Given the description of an element on the screen output the (x, y) to click on. 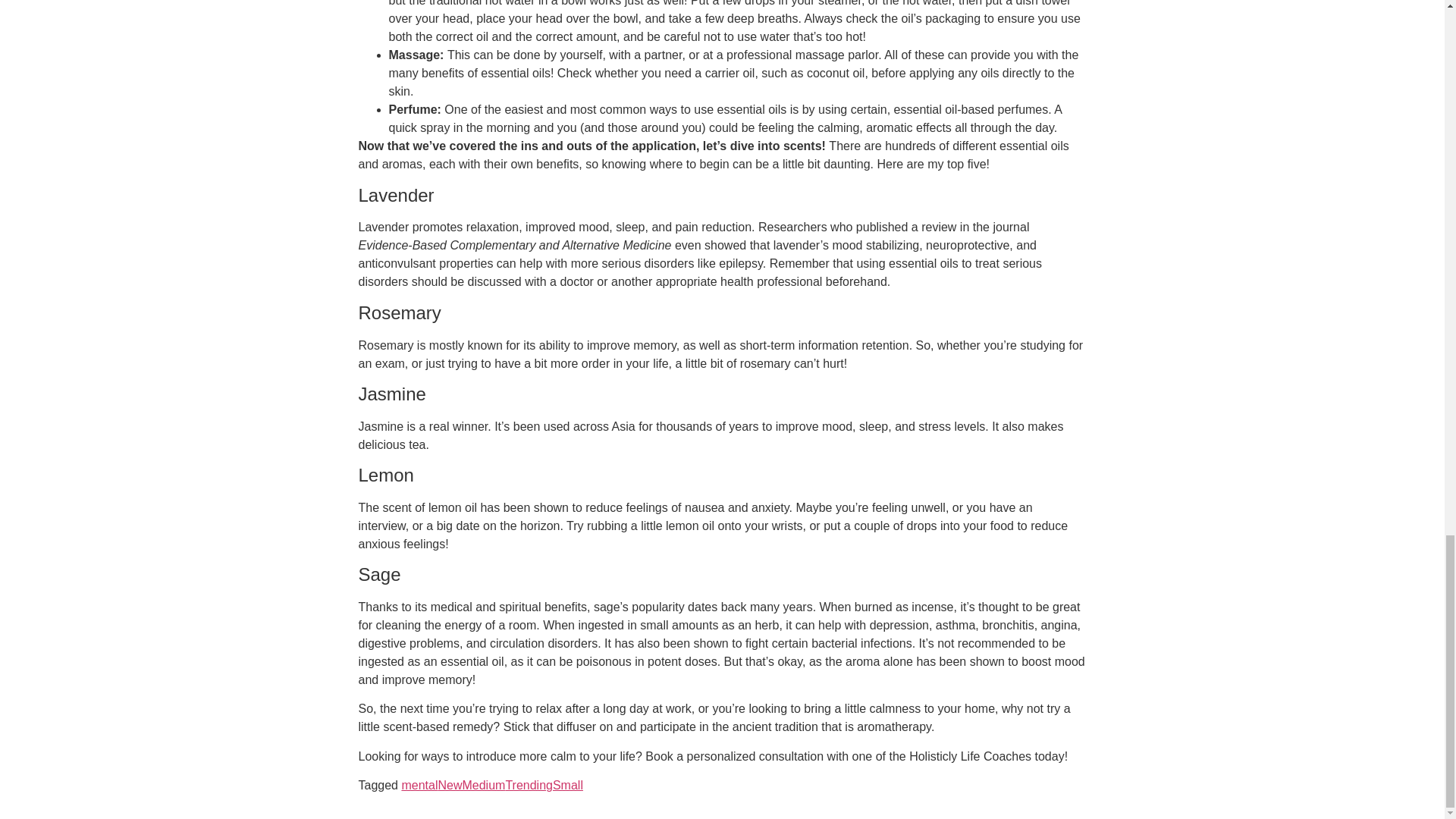
NewMedium (471, 784)
mental (419, 784)
TrendingSmall (544, 784)
